Given the description of an element on the screen output the (x, y) to click on. 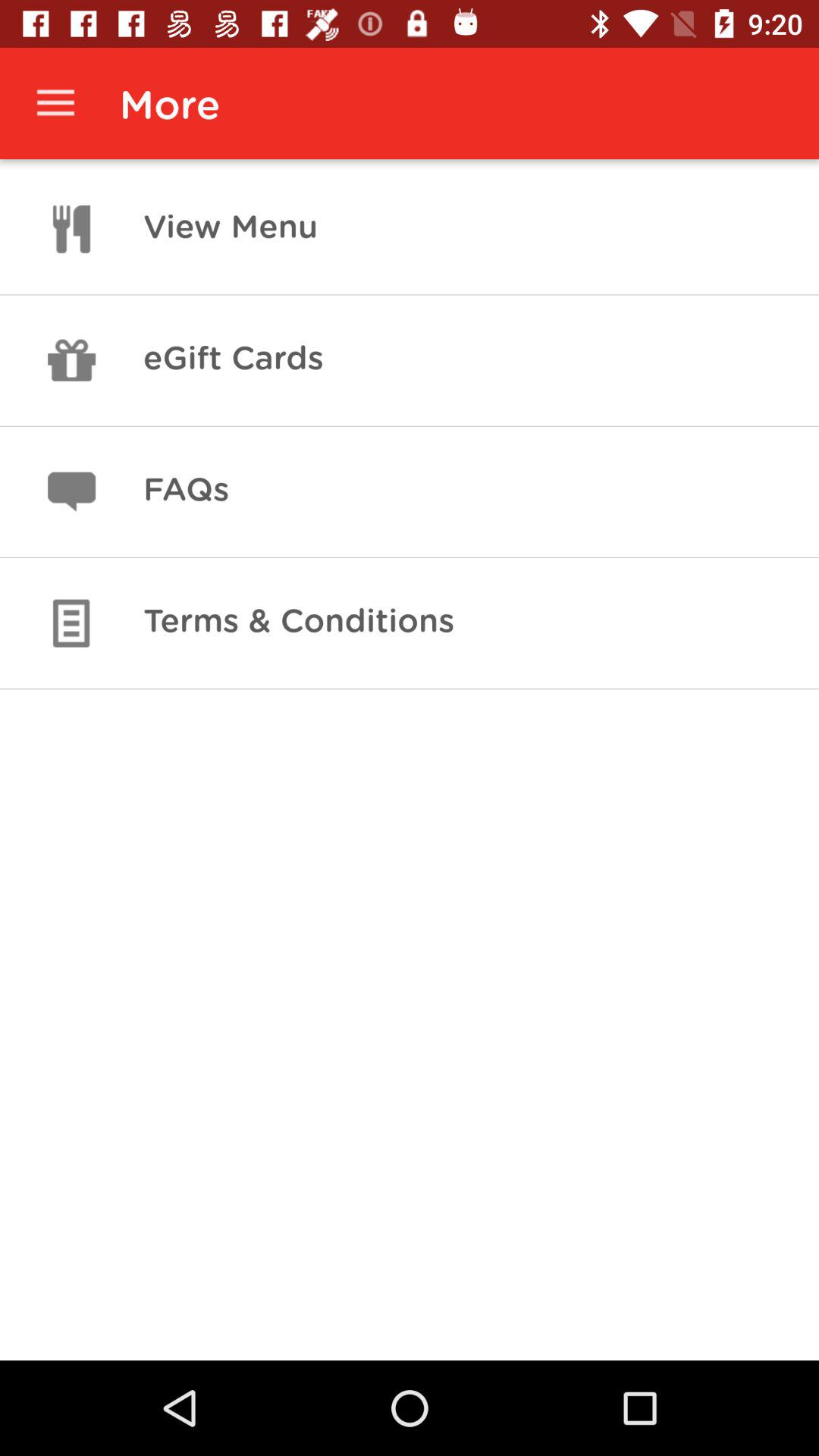
open the app below the more app (230, 228)
